Given the description of an element on the screen output the (x, y) to click on. 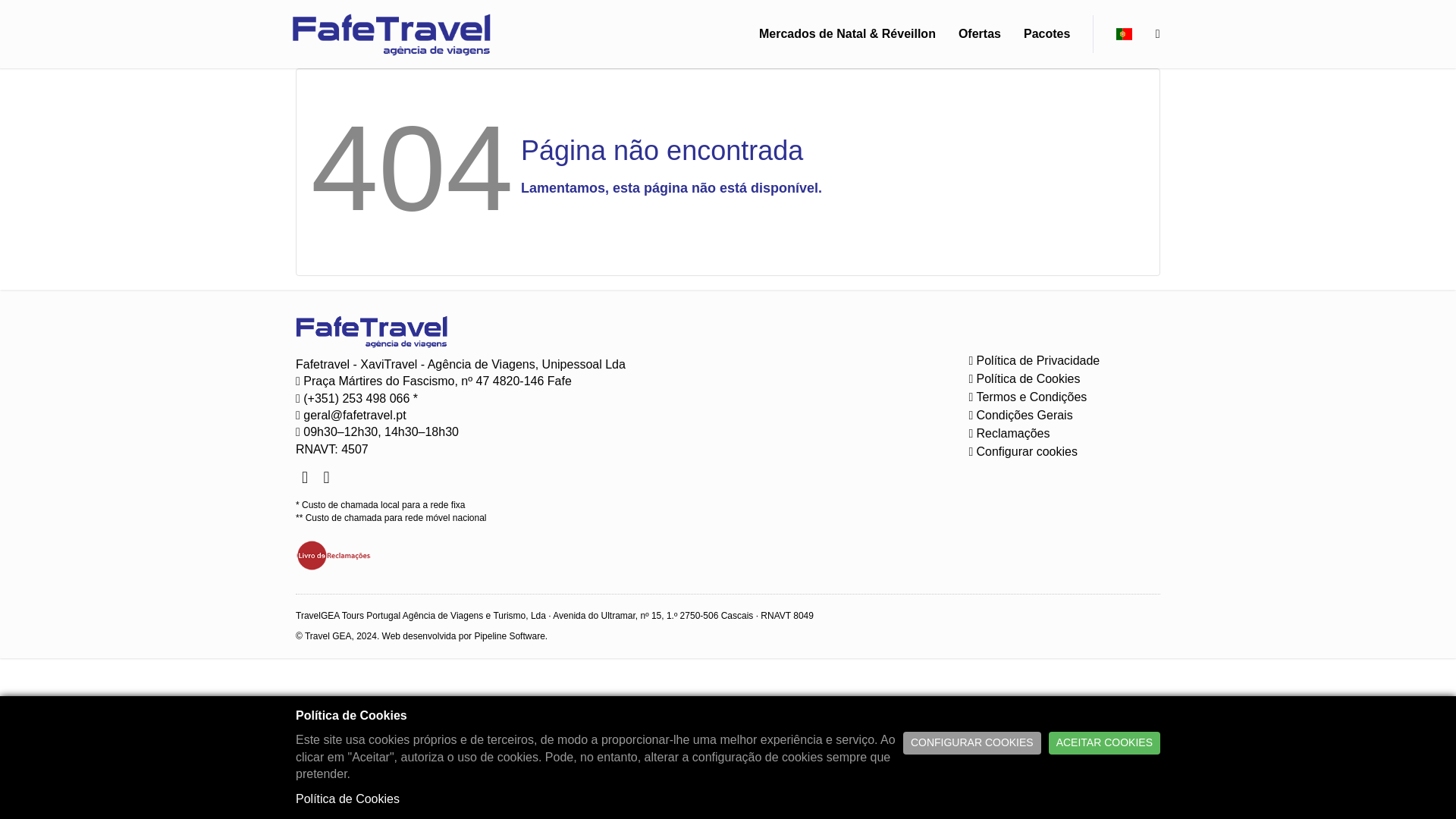
Ofertas (979, 34)
Configurar cookies (1018, 451)
GEAweb (390, 33)
Pacotes (1046, 34)
Pacotes (1046, 34)
Ofertas (979, 34)
